Given the description of an element on the screen output the (x, y) to click on. 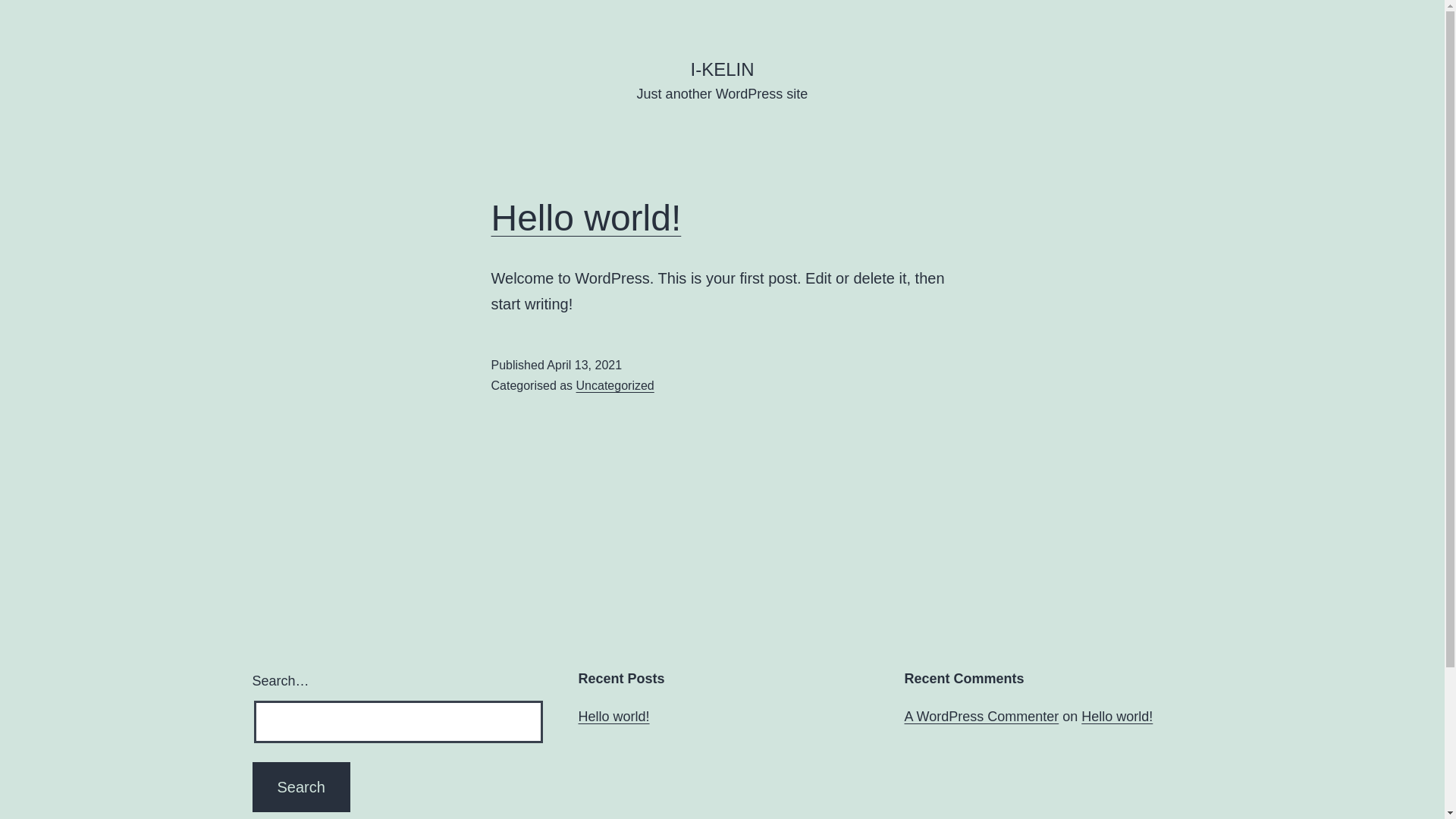
A WordPress Commenter Element type: text (980, 716)
Hello world! Element type: text (613, 716)
Uncategorized Element type: text (615, 385)
Hello world! Element type: text (586, 217)
Hello world! Element type: text (1116, 716)
Search Element type: text (300, 787)
